Given the description of an element on the screen output the (x, y) to click on. 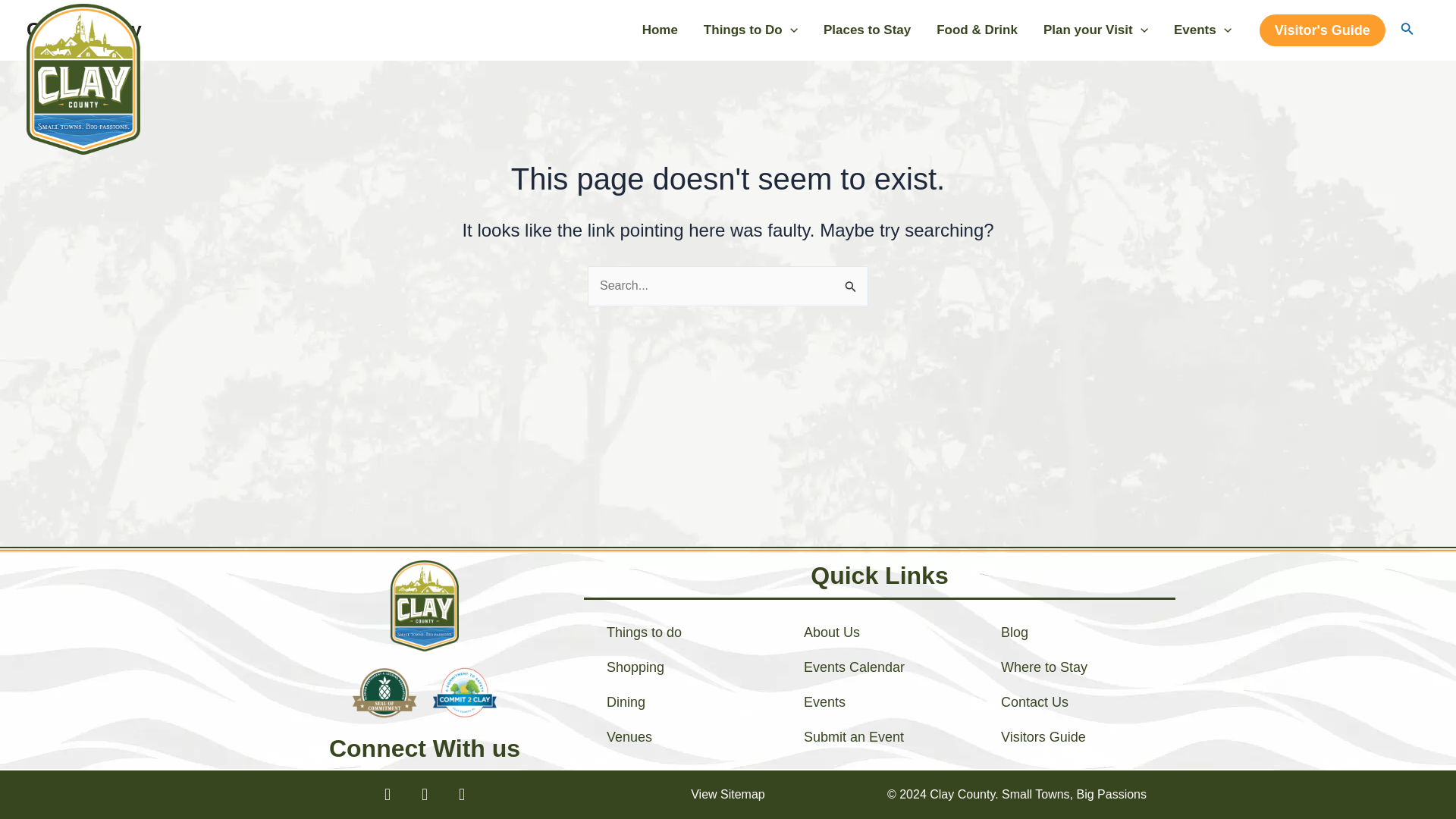
Search (850, 282)
Home (659, 30)
Clay County (83, 29)
Search (850, 282)
Things to Do (750, 30)
Dining (682, 701)
Visitor's Guide (1322, 29)
Shopping (682, 667)
Search (850, 282)
Places to Stay (866, 30)
